Given the description of an element on the screen output the (x, y) to click on. 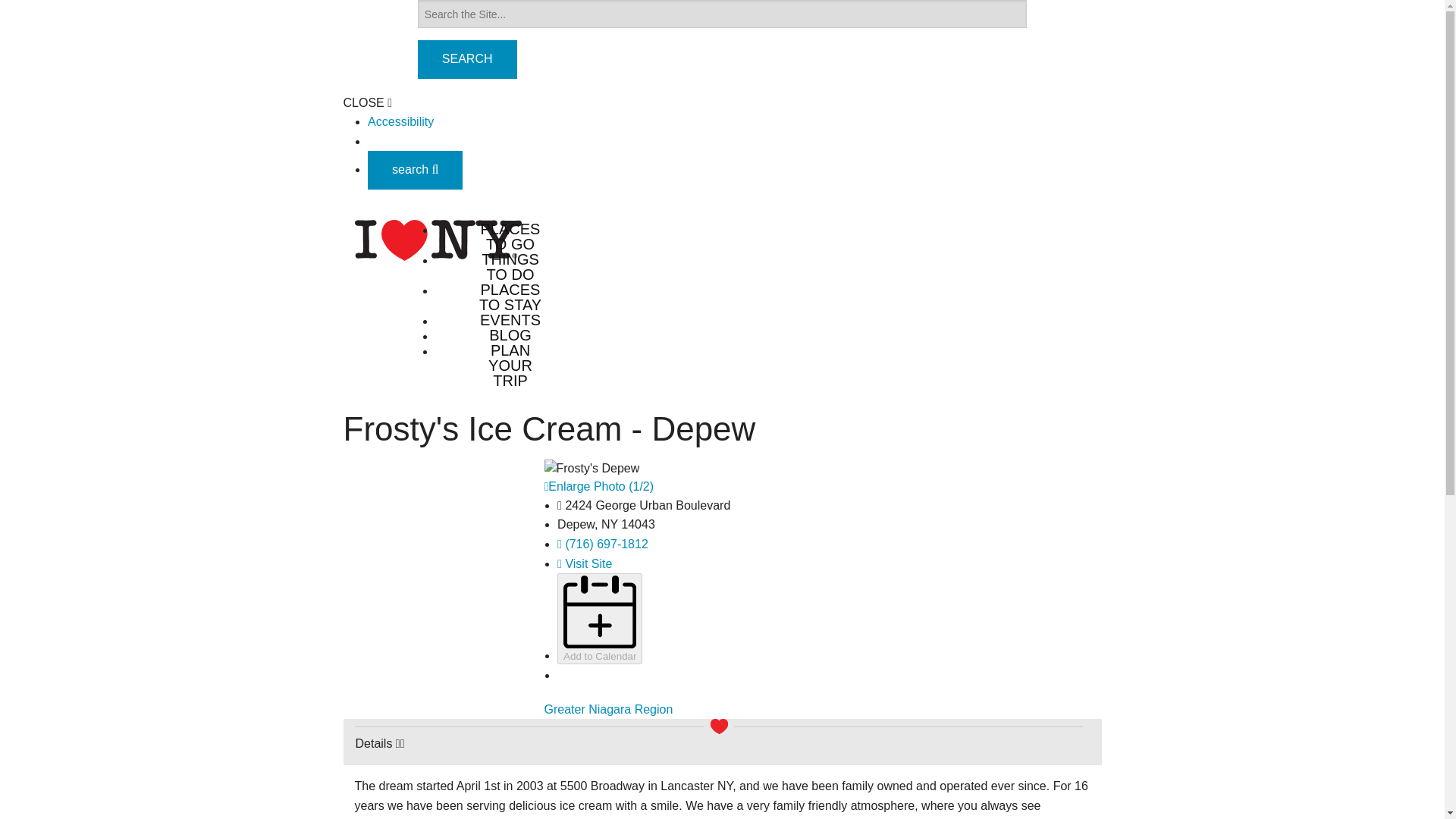
SEARCH (466, 59)
PLACES TO GO (510, 236)
Accessibility (400, 121)
search (415, 169)
search (415, 169)
